Given the description of an element on the screen output the (x, y) to click on. 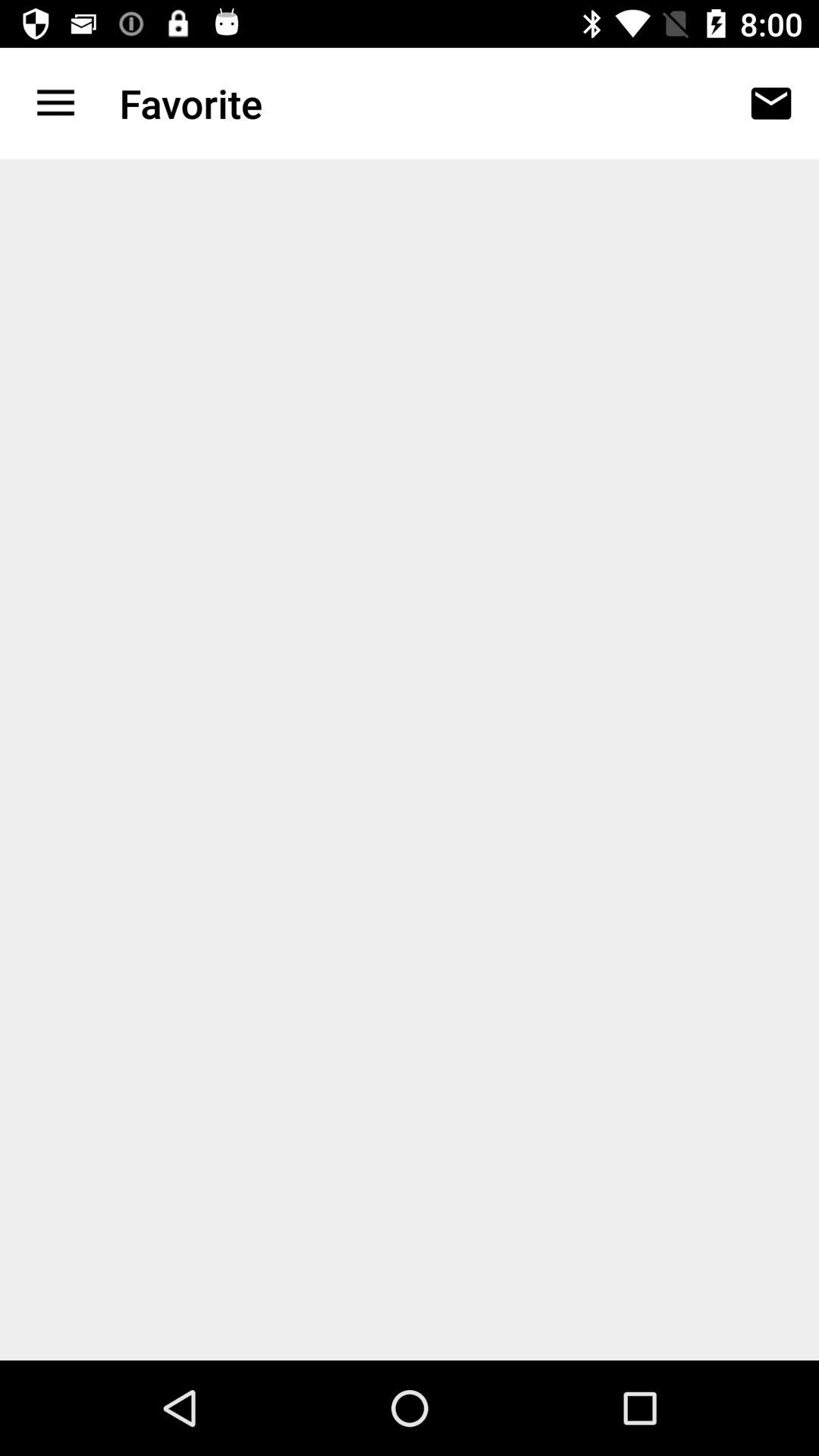
tap the item at the top right corner (771, 103)
